Given the description of an element on the screen output the (x, y) to click on. 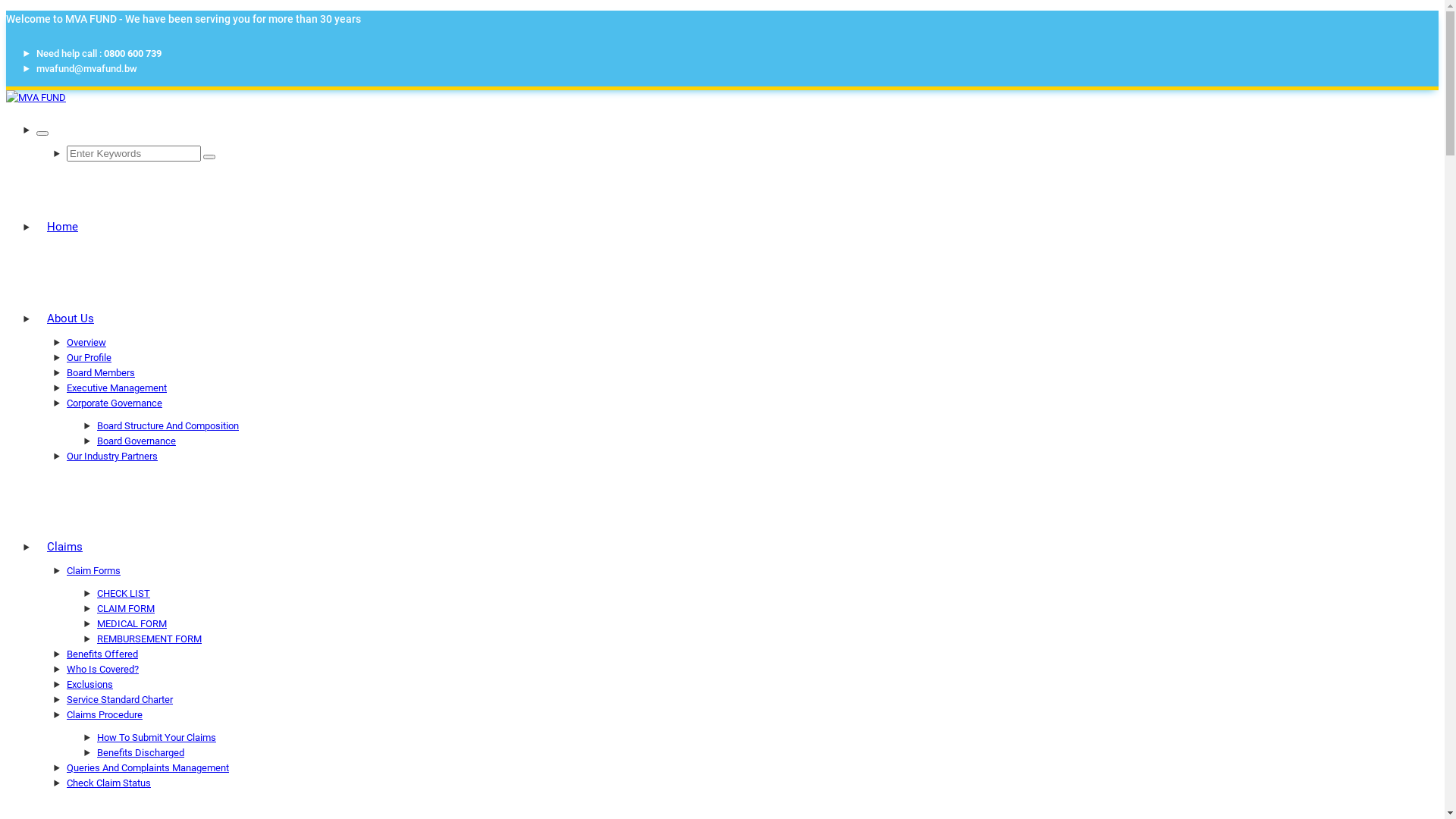
Benefits Offered Element type: text (102, 653)
Executive Management Element type: text (116, 387)
Board Governance Element type: text (136, 440)
Corporate Governance Element type: text (114, 402)
How To Submit Your Claims Element type: text (156, 737)
Benefits Discharged Element type: text (140, 752)
MEDICAL FORM Element type: text (131, 623)
Claims Procedure Element type: text (104, 714)
Queries And Complaints Management Element type: text (147, 767)
Exclusions Element type: text (89, 684)
Who Is Covered? Element type: text (102, 668)
REMBURSEMENT FORM Element type: text (149, 638)
CLAIM FORM Element type: text (125, 608)
Board Structure And Composition Element type: text (167, 425)
Our Profile Element type: text (88, 357)
Board Members Element type: text (100, 372)
Home Element type: text (62, 226)
CHECK LIST Element type: text (123, 593)
Service Standard Charter Element type: text (119, 699)
Claim Forms Element type: text (93, 570)
Overview Element type: text (86, 342)
About Us Element type: text (70, 318)
Check Claim Status Element type: text (108, 782)
Our Industry Partners Element type: text (111, 455)
Claims Element type: text (64, 546)
